Given the description of an element on the screen output the (x, y) to click on. 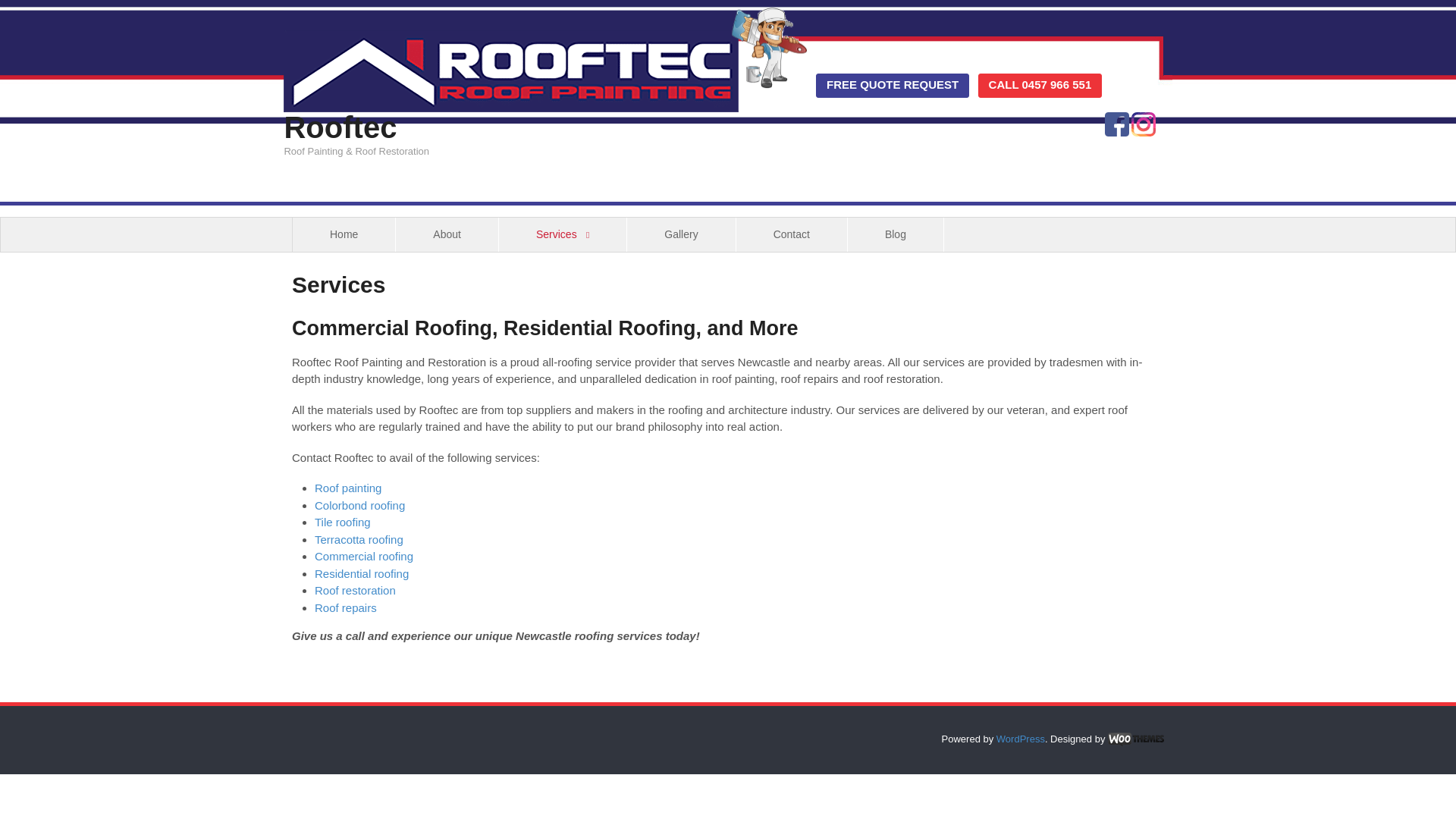
Commercial roofing (363, 555)
FREE QUOTE REQUEST (892, 85)
Residential roofing (361, 573)
About (446, 234)
Roof repairs (345, 607)
Rooftec (339, 127)
Roof Restoration (355, 590)
Home (343, 234)
Terracotta Roofing (358, 539)
Roof painting (347, 487)
Services (562, 234)
Residential Roofing (361, 573)
Tile roofing (342, 521)
Tile Roofing (342, 521)
Blog (895, 234)
